Given the description of an element on the screen output the (x, y) to click on. 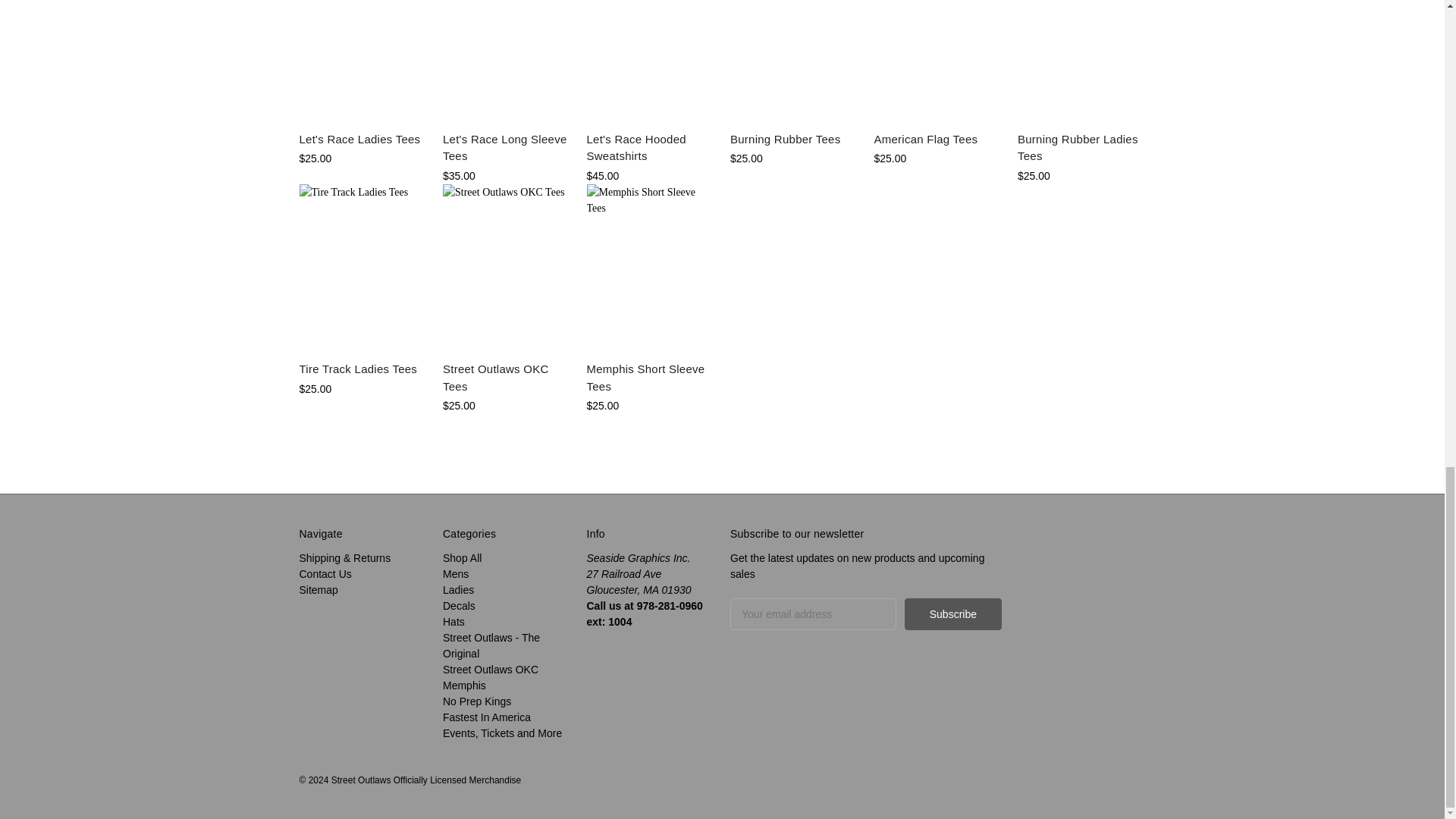
Burning Rubber Tees (794, 61)
 Let's Race Ladies Tees (362, 61)
American Flag  Tees (937, 61)
Let's Race Hooded Sweatshirts (650, 61)
Subscribe (952, 613)
Let's Race Long Sleeve Tees (506, 61)
Burning Rubber Ladies Tees (1081, 61)
